Given the description of an element on the screen output the (x, y) to click on. 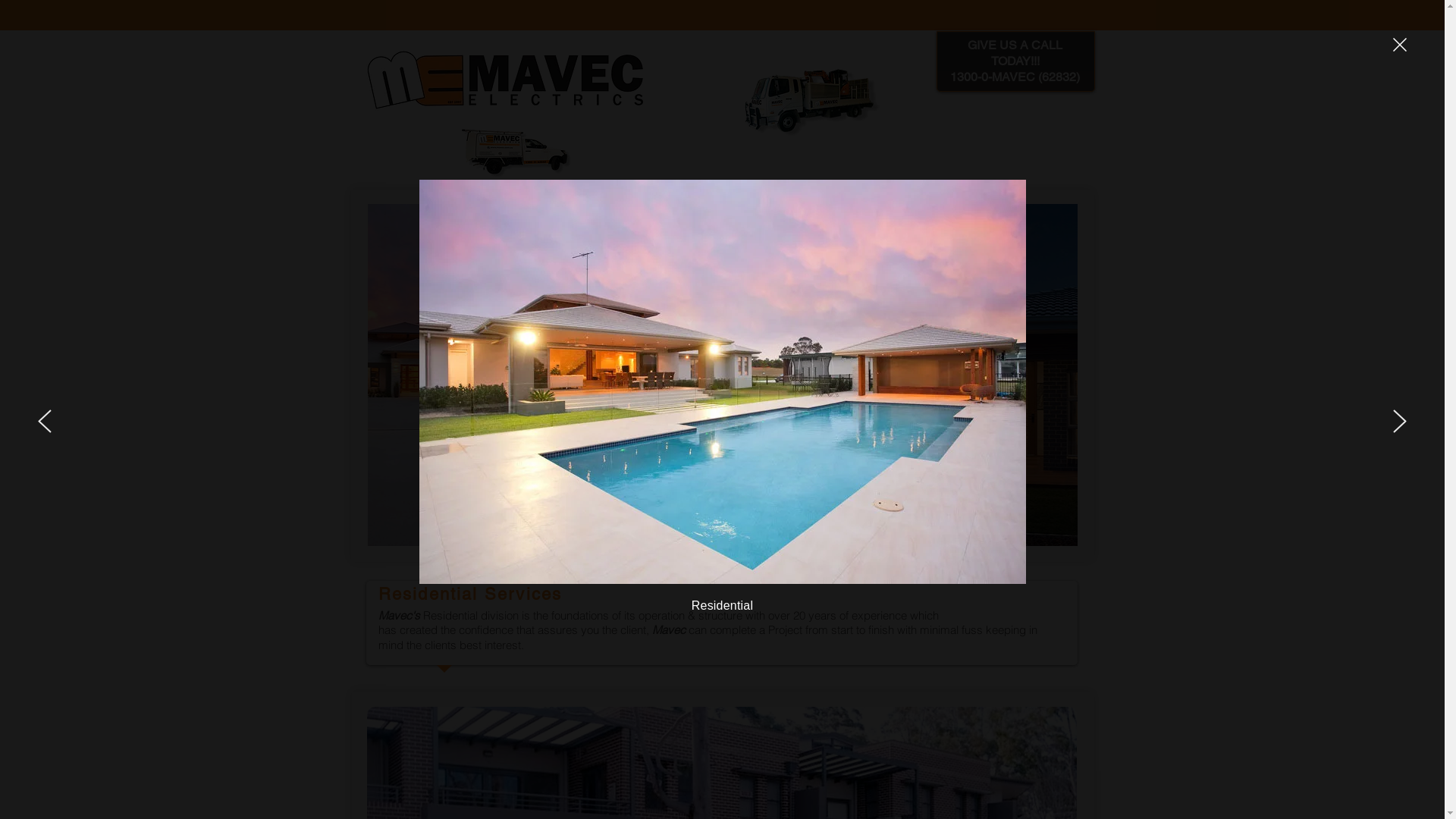
Mavec Ute copy.png Element type: hover (510, 151)
